Given the description of an element on the screen output the (x, y) to click on. 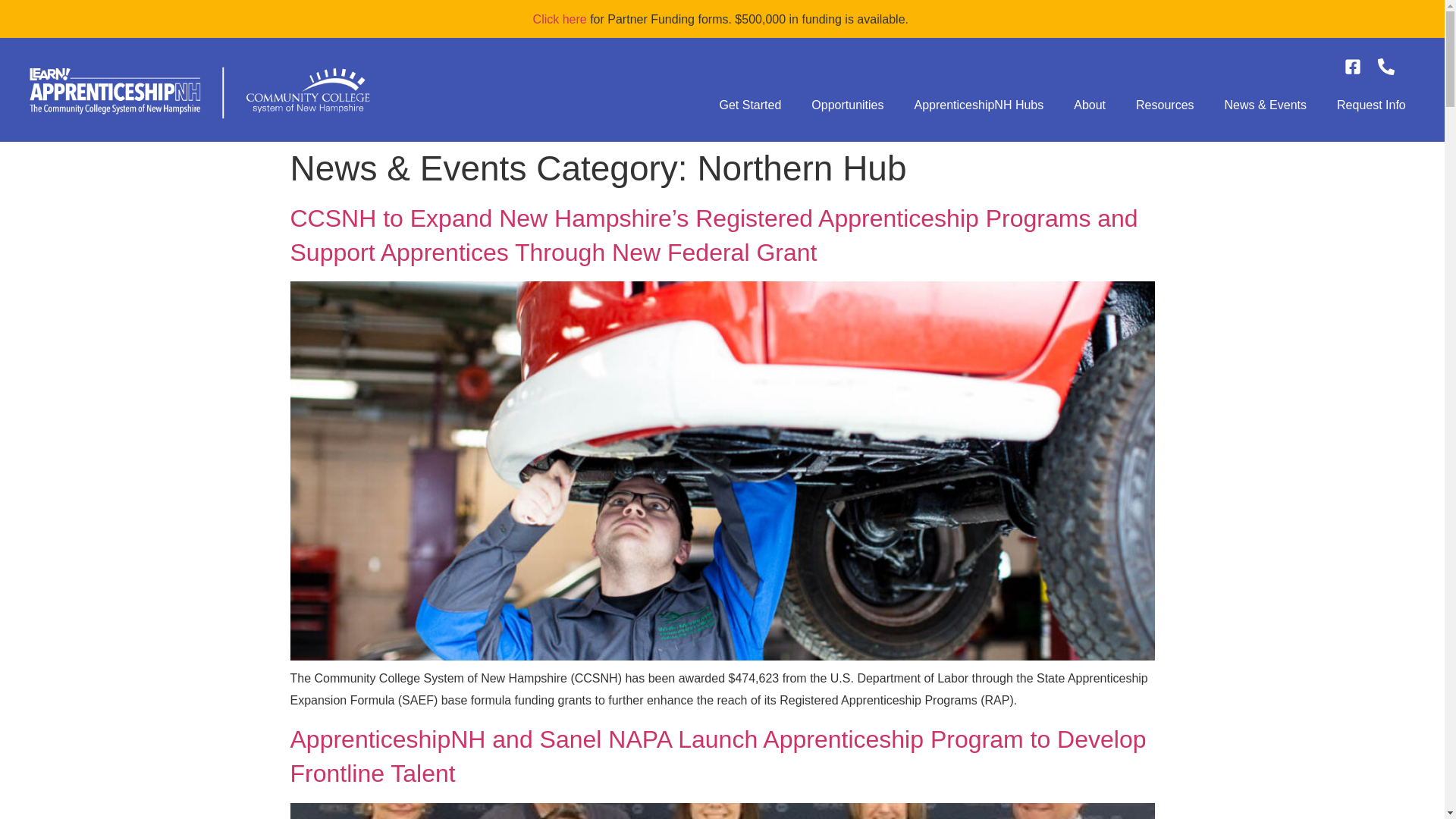
About (1089, 105)
Click here (559, 19)
Request Info (1371, 105)
Get Started (749, 105)
Opportunities (847, 105)
ApprenticeshipNH Hubs (979, 105)
Resources (1164, 105)
